Given the description of an element on the screen output the (x, y) to click on. 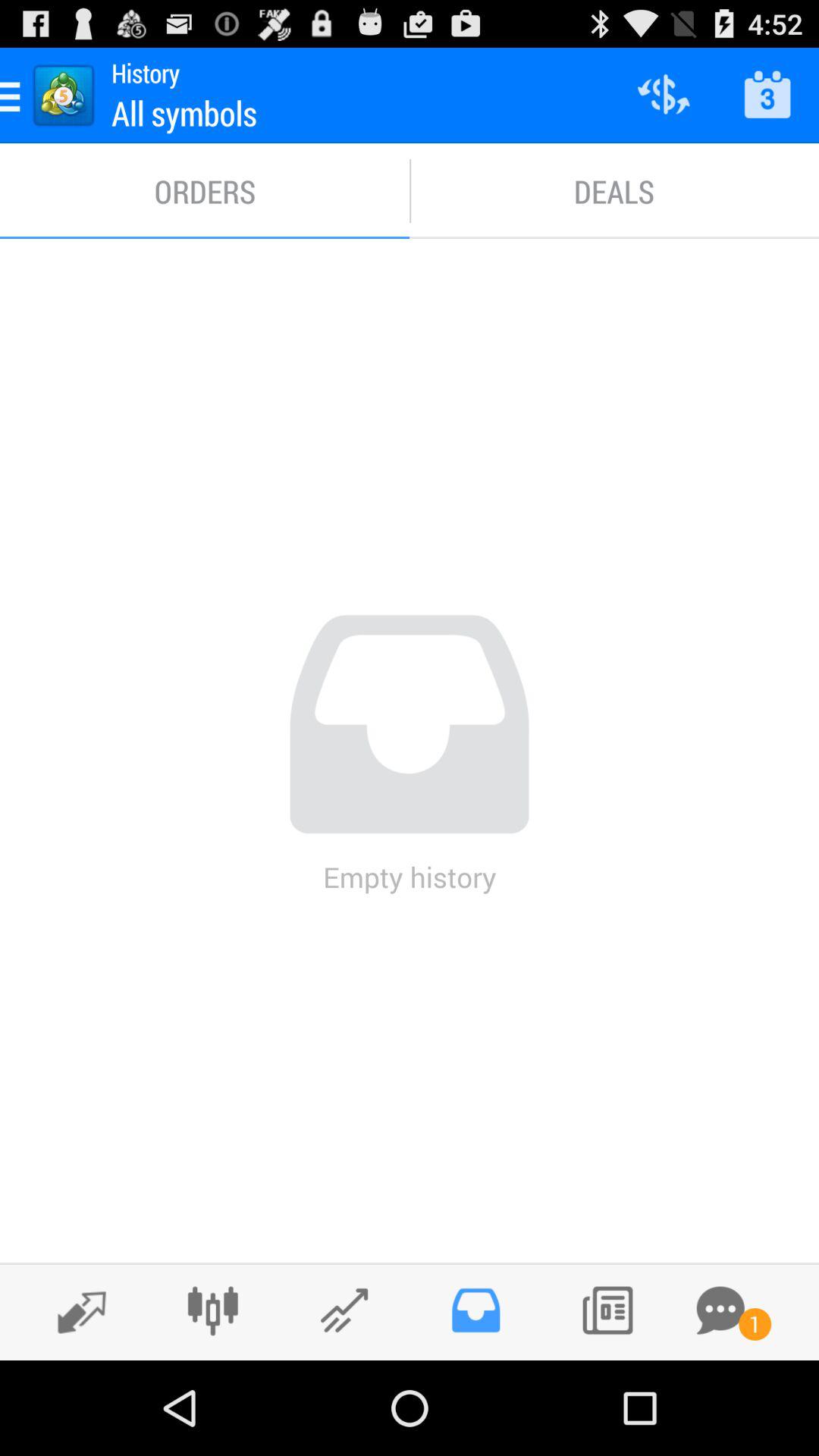
select the icon to the left of the deals (204, 190)
